Given the description of an element on the screen output the (x, y) to click on. 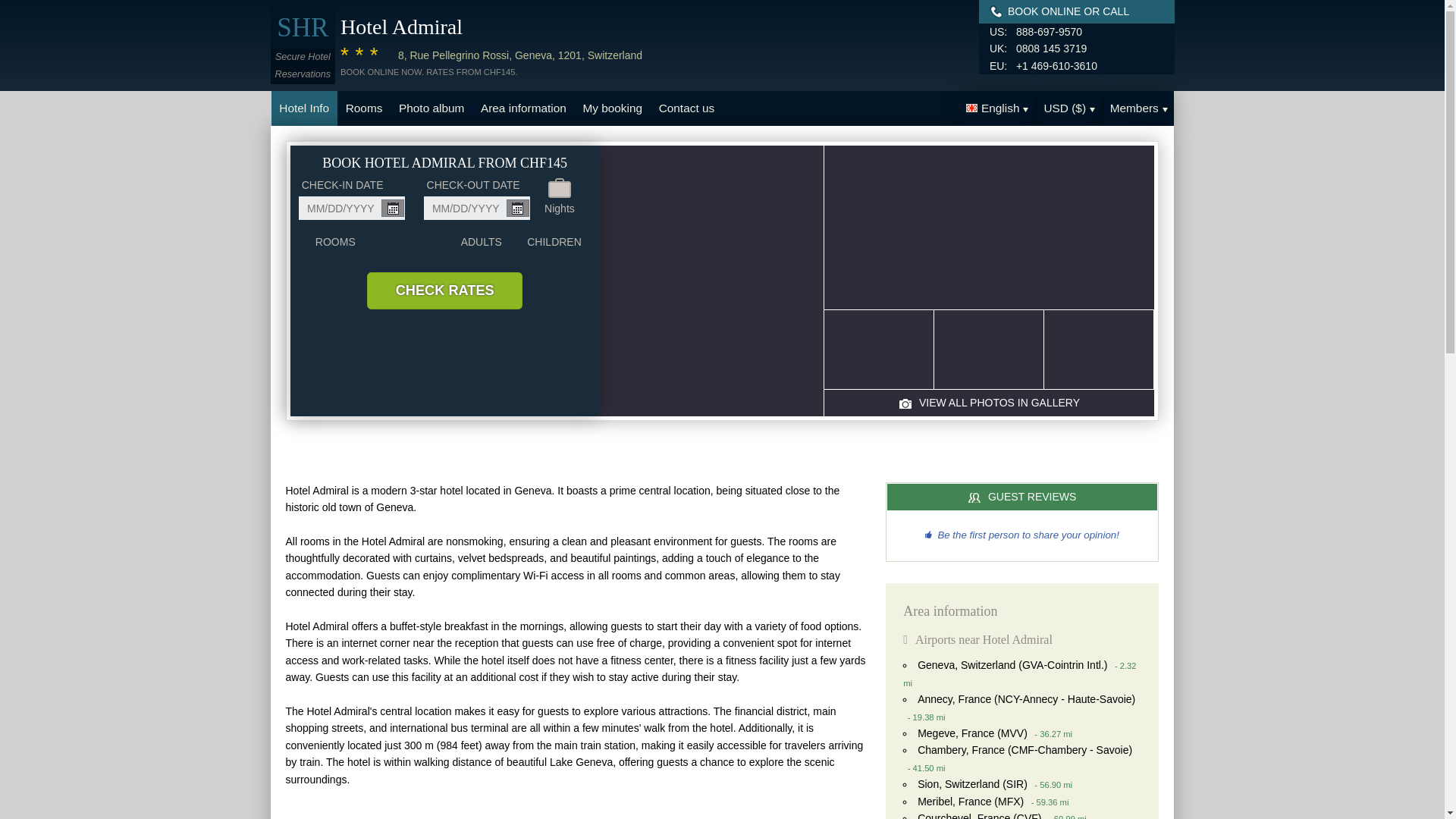
My booking (612, 107)
Area information (522, 107)
Contact us (686, 107)
Hotel Info (303, 107)
Rooms (363, 107)
